Given the description of an element on the screen output the (x, y) to click on. 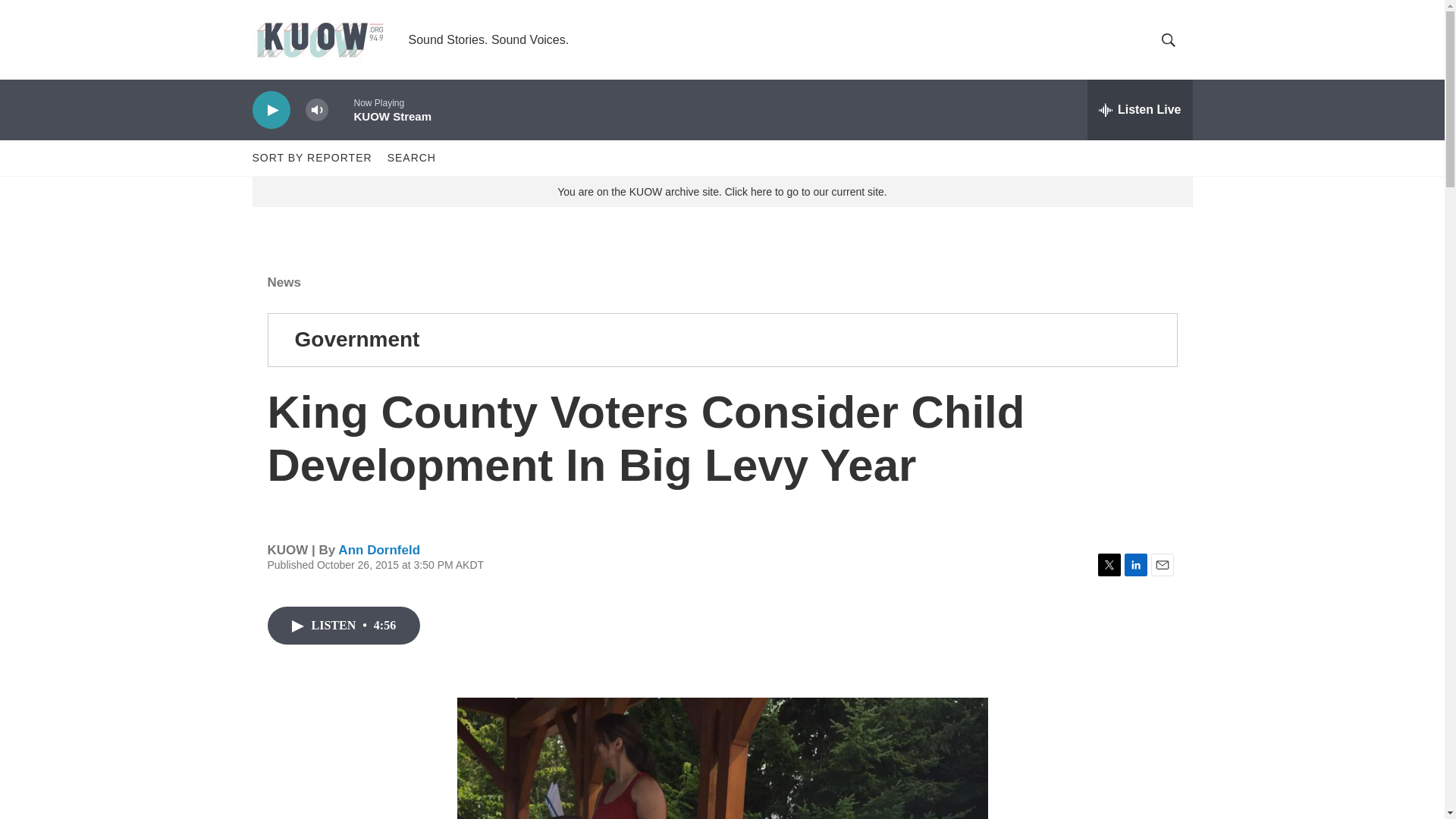
LinkedIn (1135, 564)
SEARCH (411, 158)
Government (356, 339)
Twitter (1109, 564)
Show Search (1168, 39)
News (282, 282)
SORT BY REPORTER (311, 158)
Listen Live (1139, 109)
Ann Dornfeld (378, 549)
Email (1162, 564)
